Given the description of an element on the screen output the (x, y) to click on. 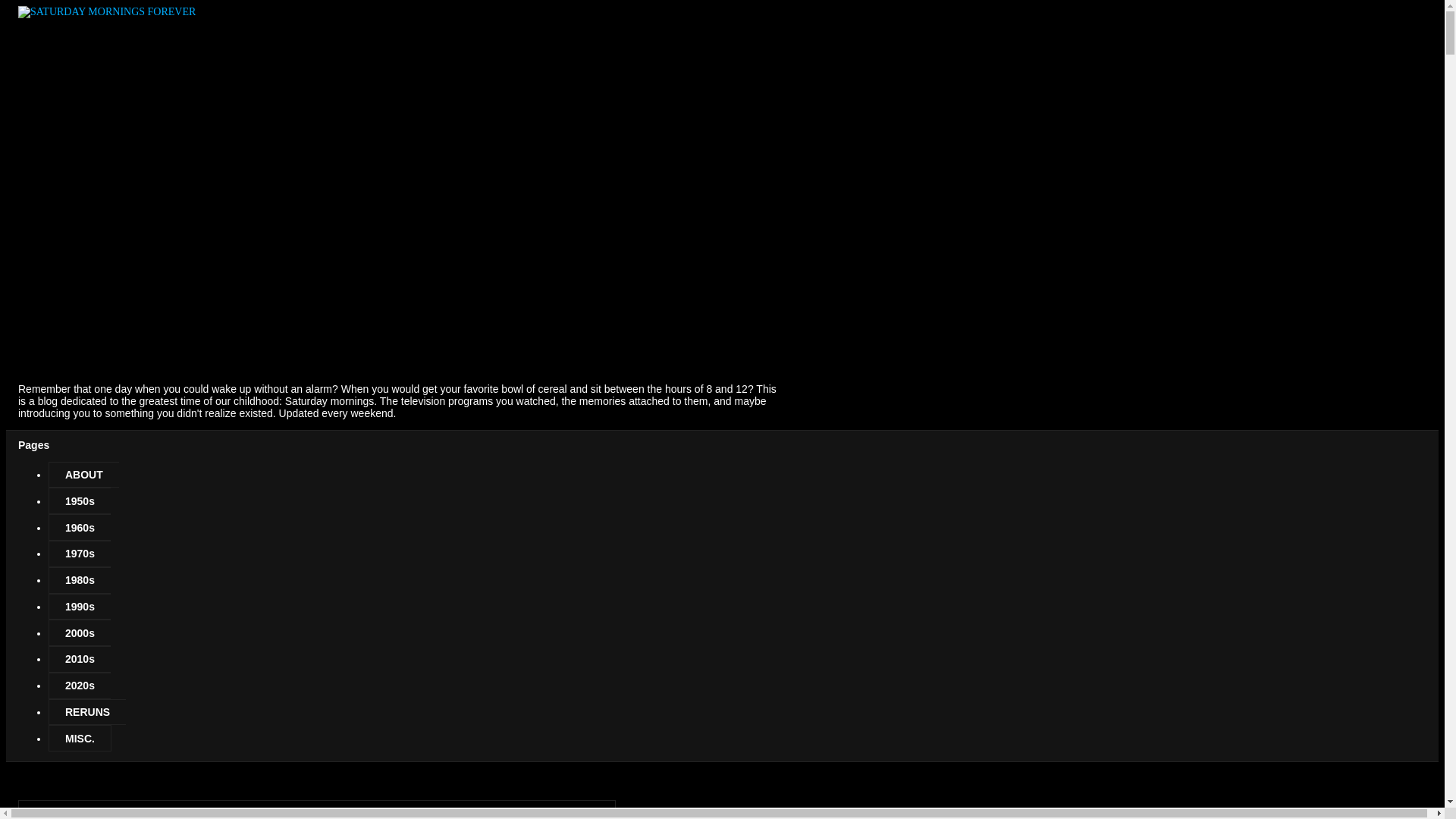
2010s (79, 659)
MISC. (80, 737)
RERUNS (86, 712)
ABOUT (83, 474)
1990s (79, 606)
1970s (79, 553)
1960s (79, 527)
2020s (79, 685)
2000s (79, 632)
1980s (79, 580)
1950s (79, 500)
